Given the description of an element on the screen output the (x, y) to click on. 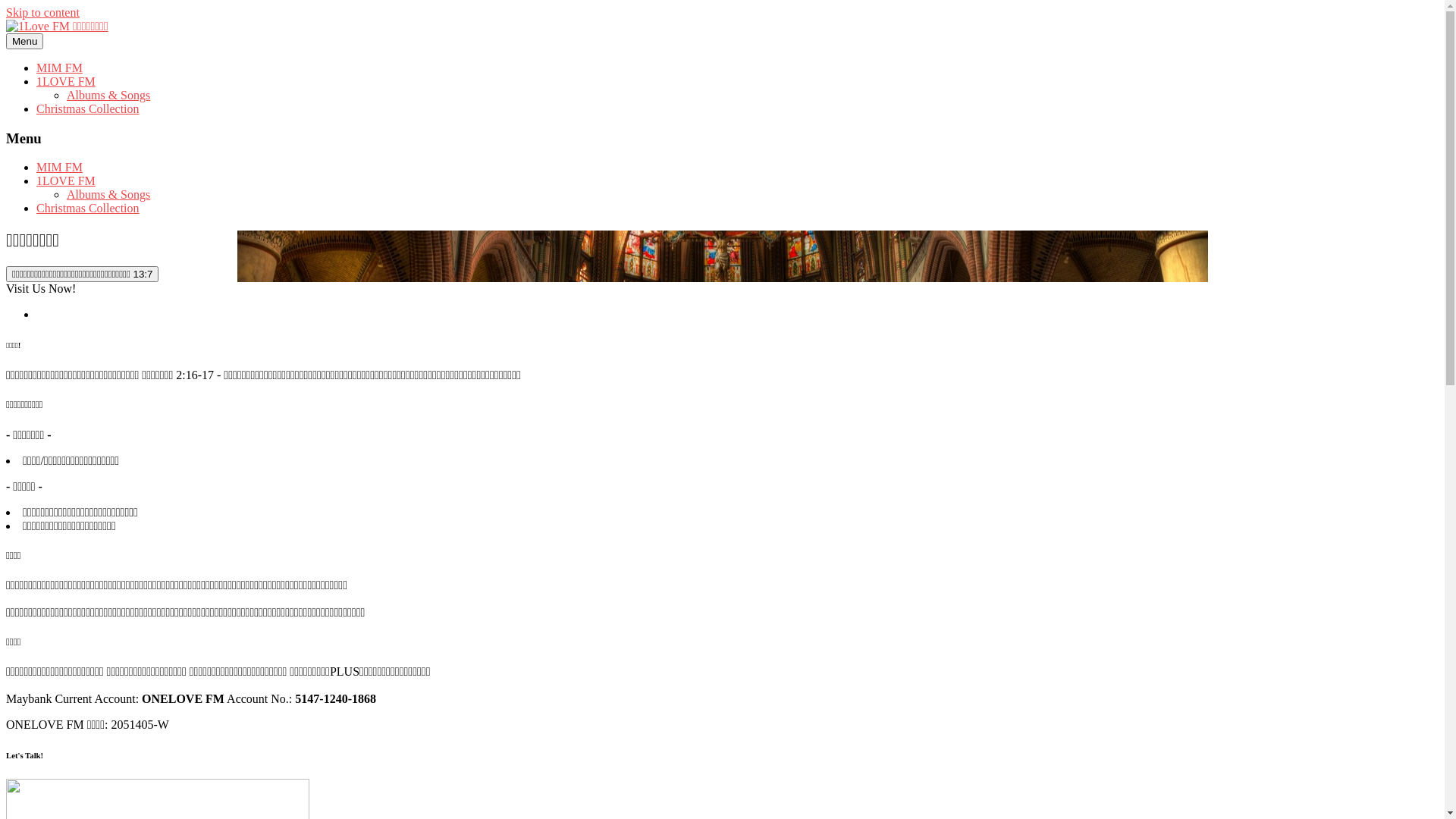
Skip to content Element type: text (42, 12)
MIM FM Element type: text (59, 67)
Christmas Collection Element type: text (87, 108)
Menu Element type: text (24, 41)
MIM FM Element type: text (59, 166)
Christmas Collection Element type: text (87, 207)
Albums & Songs Element type: text (108, 194)
Albums & Songs Element type: text (108, 94)
1LOVE FM Element type: text (65, 180)
1LOVE FM Element type: text (65, 81)
